Given the description of an element on the screen output the (x, y) to click on. 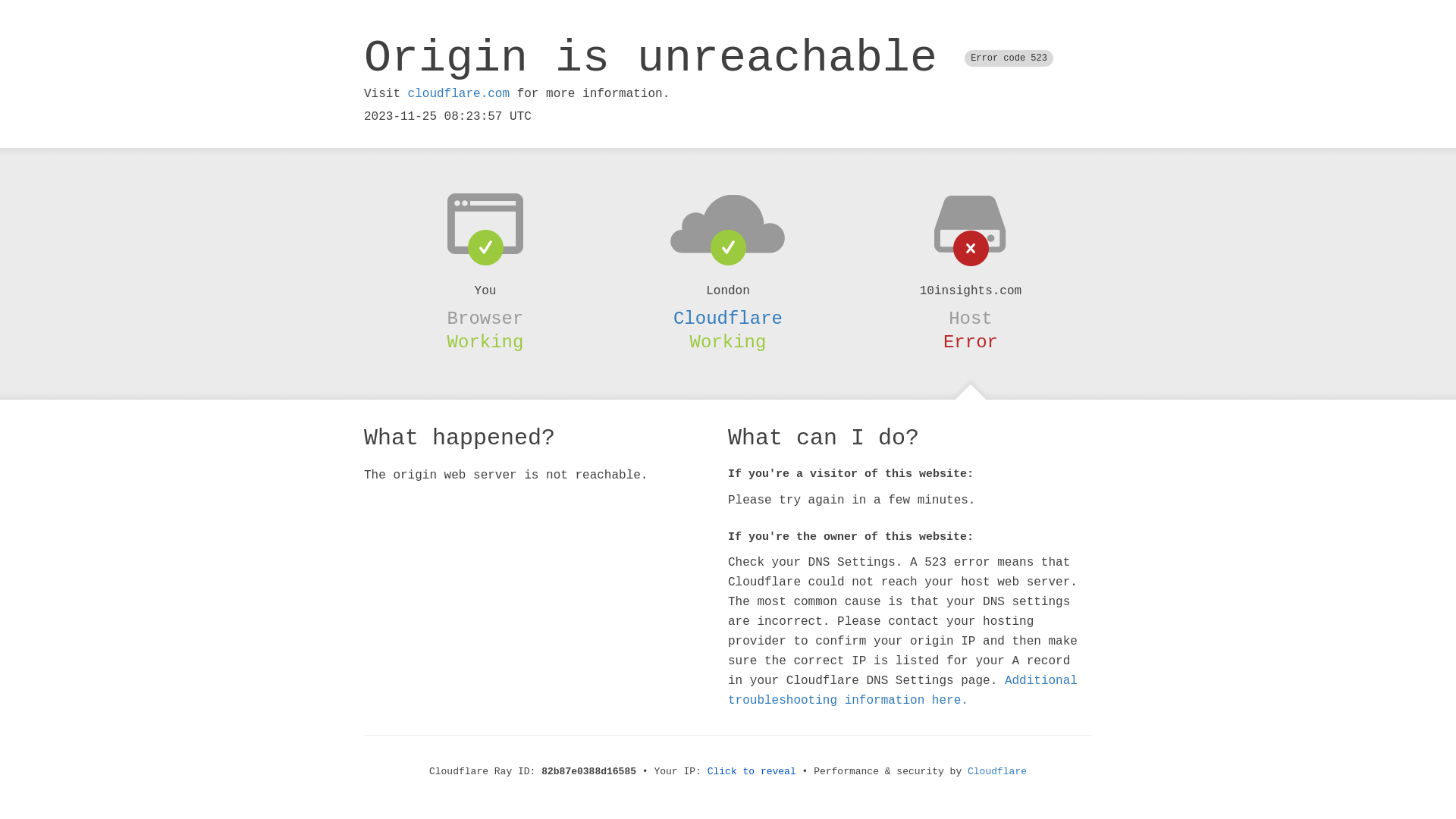
Additional troubleshooting information here. Element type: text (902, 690)
Cloudflare Element type: text (727, 318)
cloudflare.com Element type: text (458, 93)
Cloudflare Element type: text (996, 771)
Click to reveal Element type: text (751, 771)
